Given the description of an element on the screen output the (x, y) to click on. 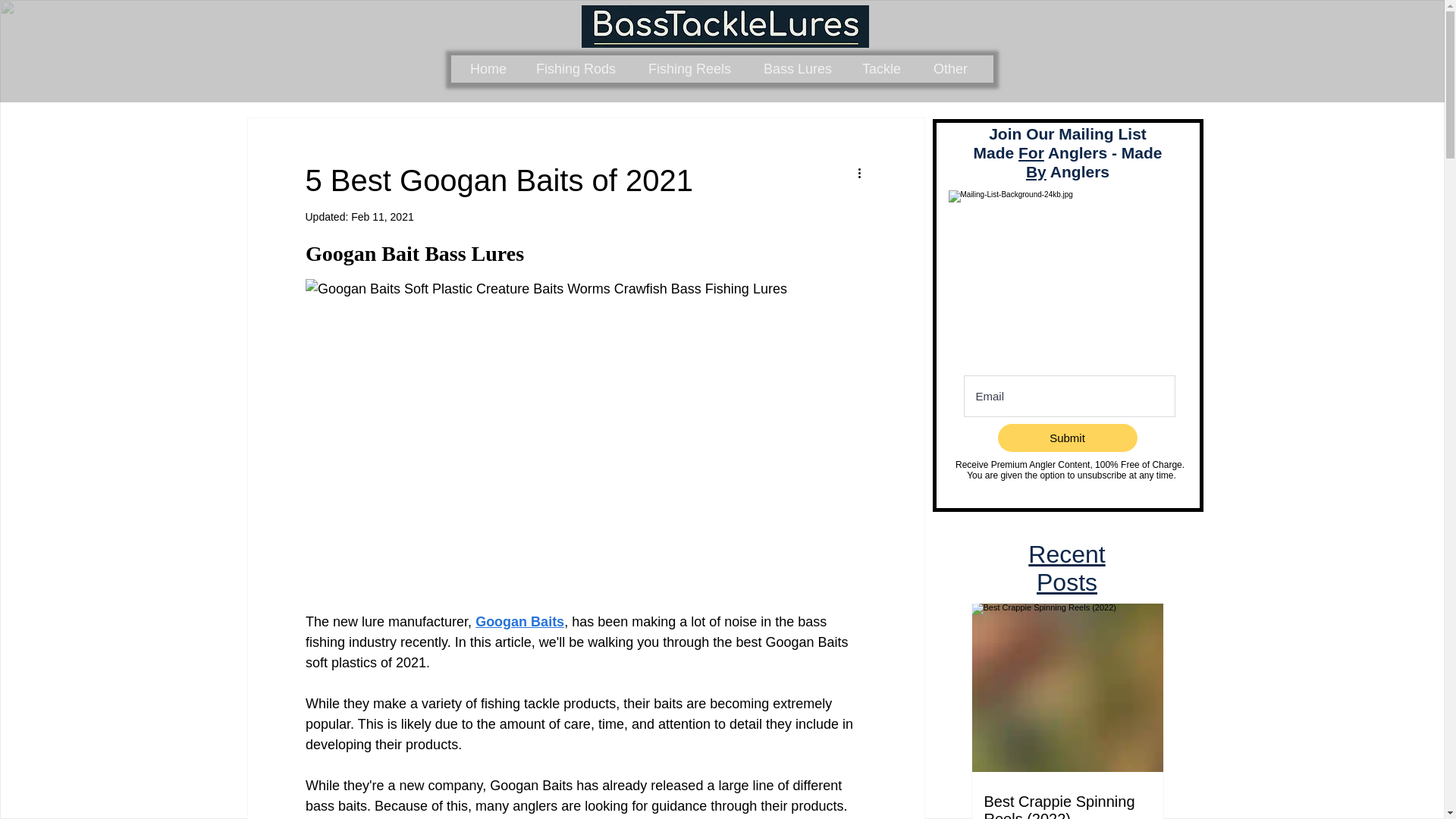
Tackle (885, 68)
Bass Lures (800, 68)
Other (953, 68)
Fishing Reels (693, 68)
Googan Baits (520, 621)
Fishing Rods (580, 68)
Feb 11, 2021 (381, 216)
Home (491, 68)
